Given the description of an element on the screen output the (x, y) to click on. 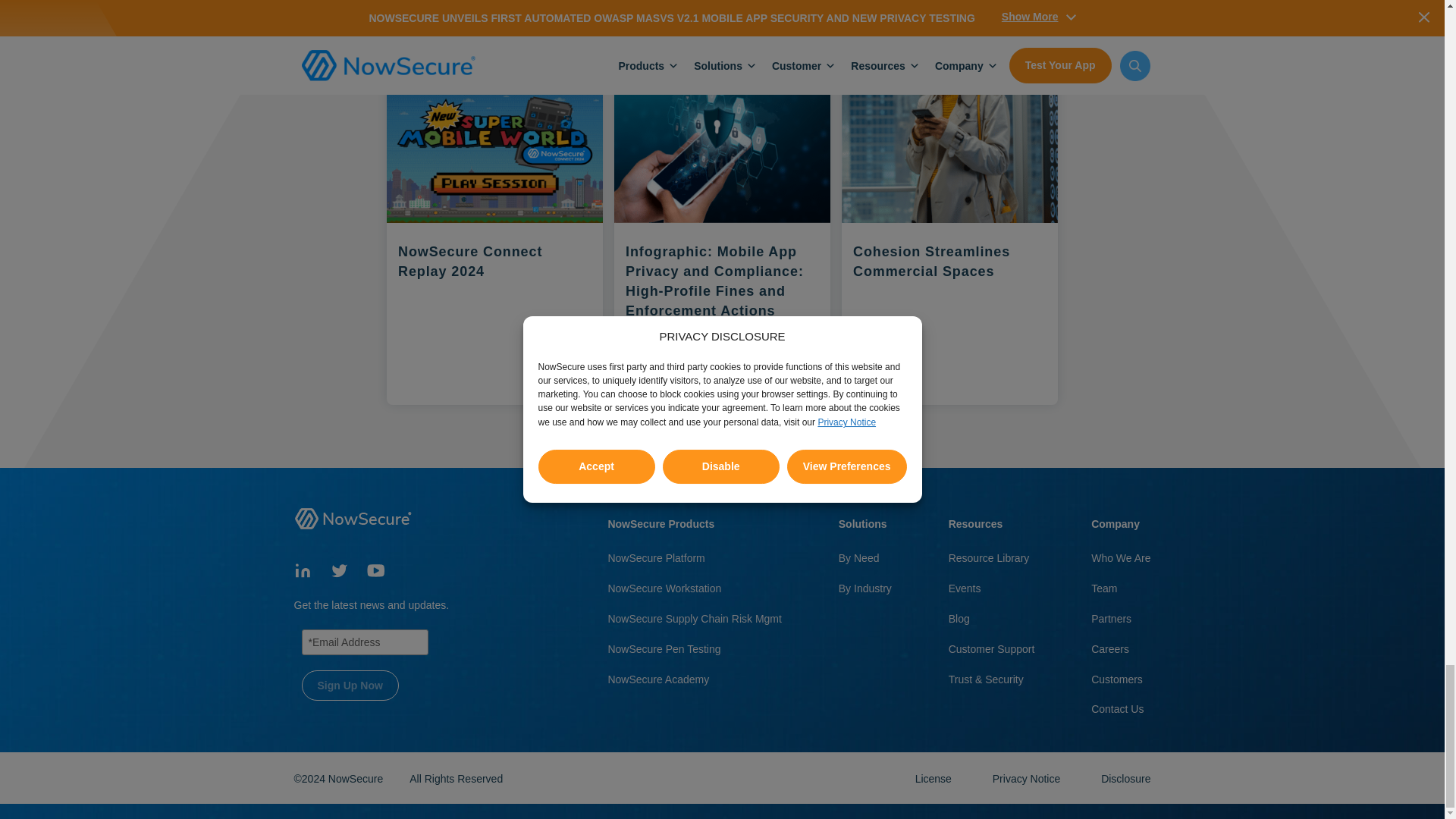
Privacy Notice (1027, 778)
Disclosure (1125, 778)
License (935, 778)
